Given the description of an element on the screen output the (x, y) to click on. 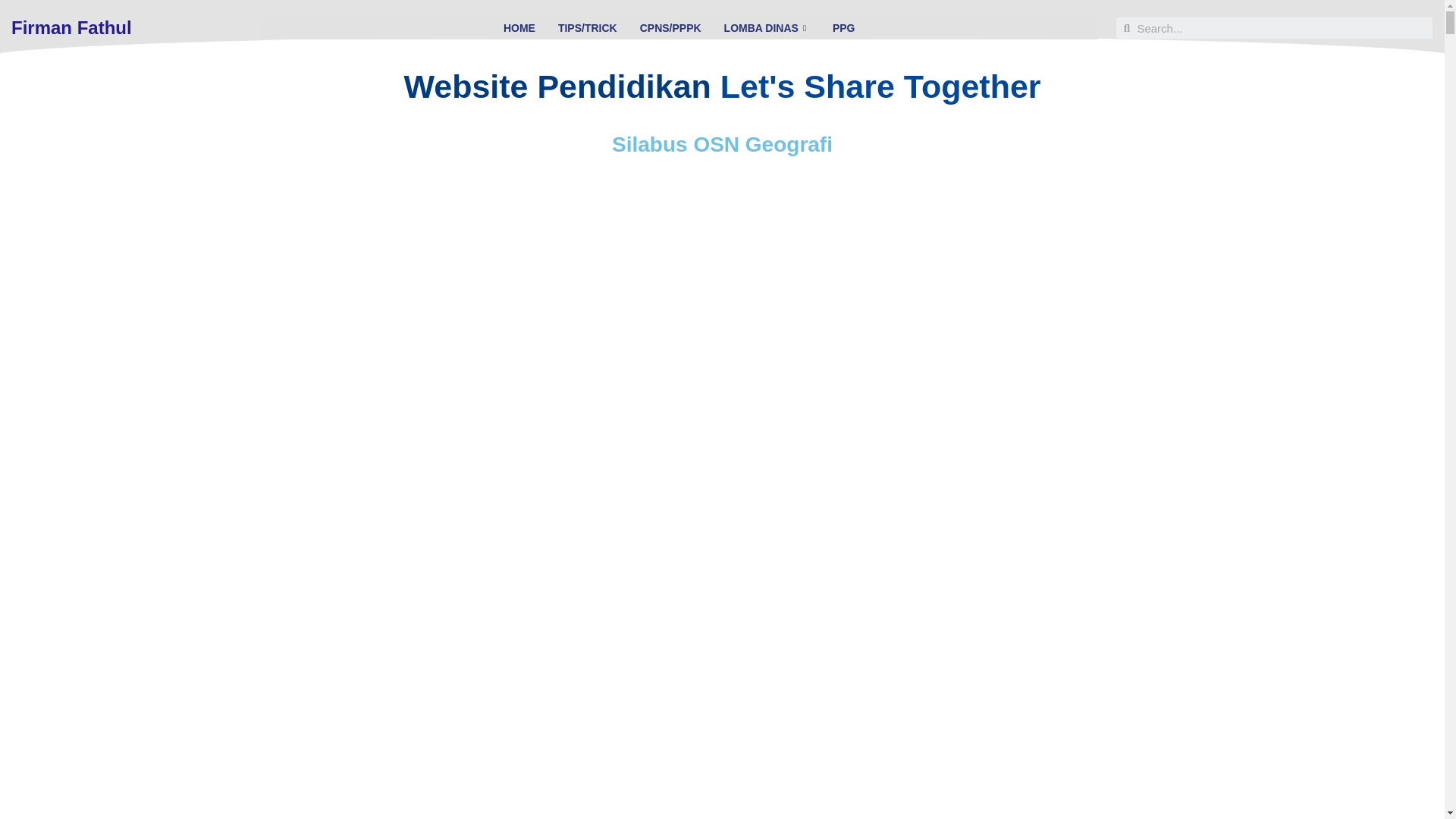
Firman Fathul (71, 10)
HOME (519, 10)
PPG (843, 26)
LOMBA DINAS (767, 14)
Search (1280, 27)
